Given the description of an element on the screen output the (x, y) to click on. 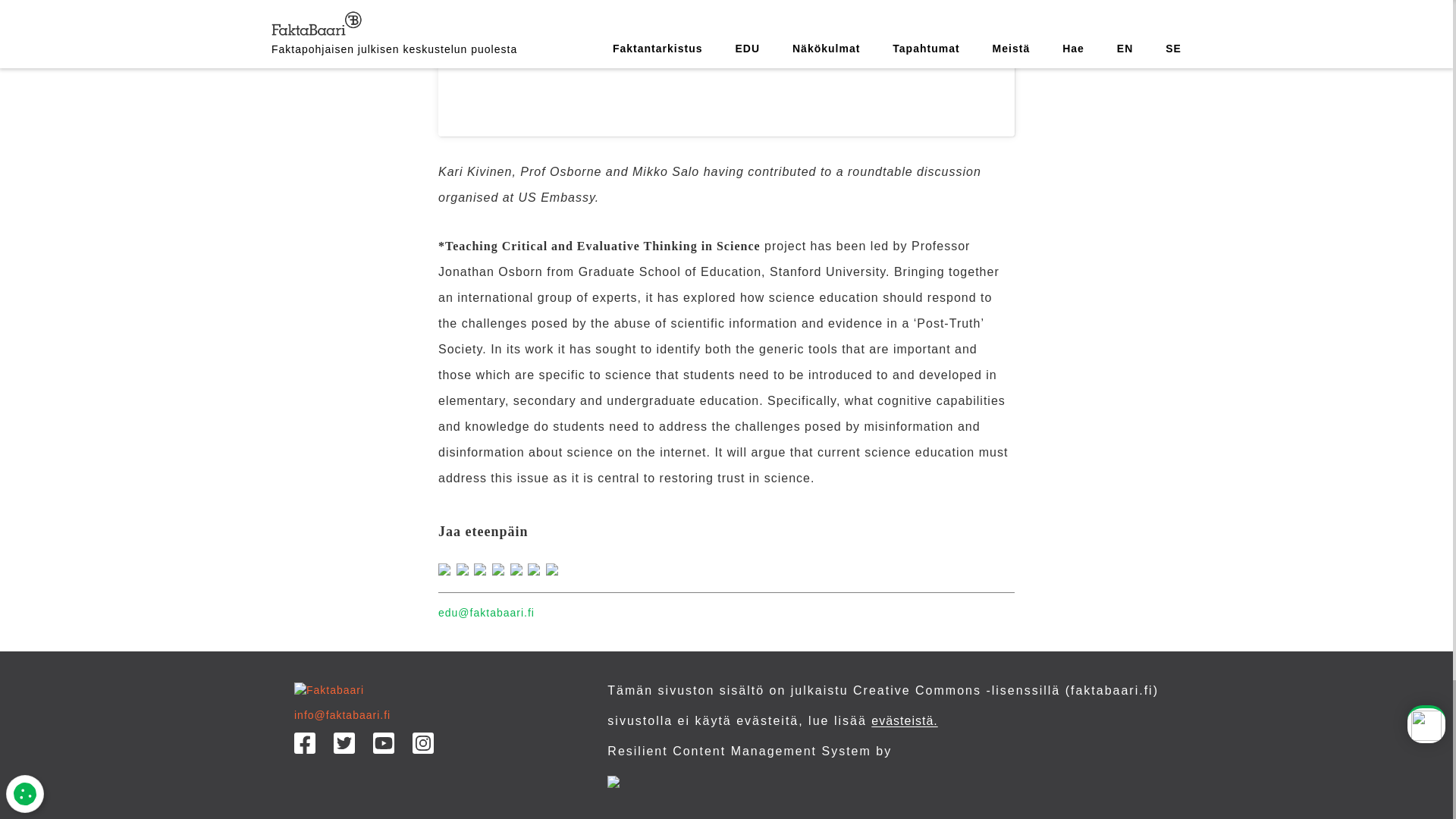
Share on whatsapp (501, 567)
Share on messenger (465, 567)
Share on pinterest (519, 567)
Share on linkedin (483, 567)
Share on skype (447, 567)
Share on twitter (536, 567)
